Given the description of an element on the screen output the (x, y) to click on. 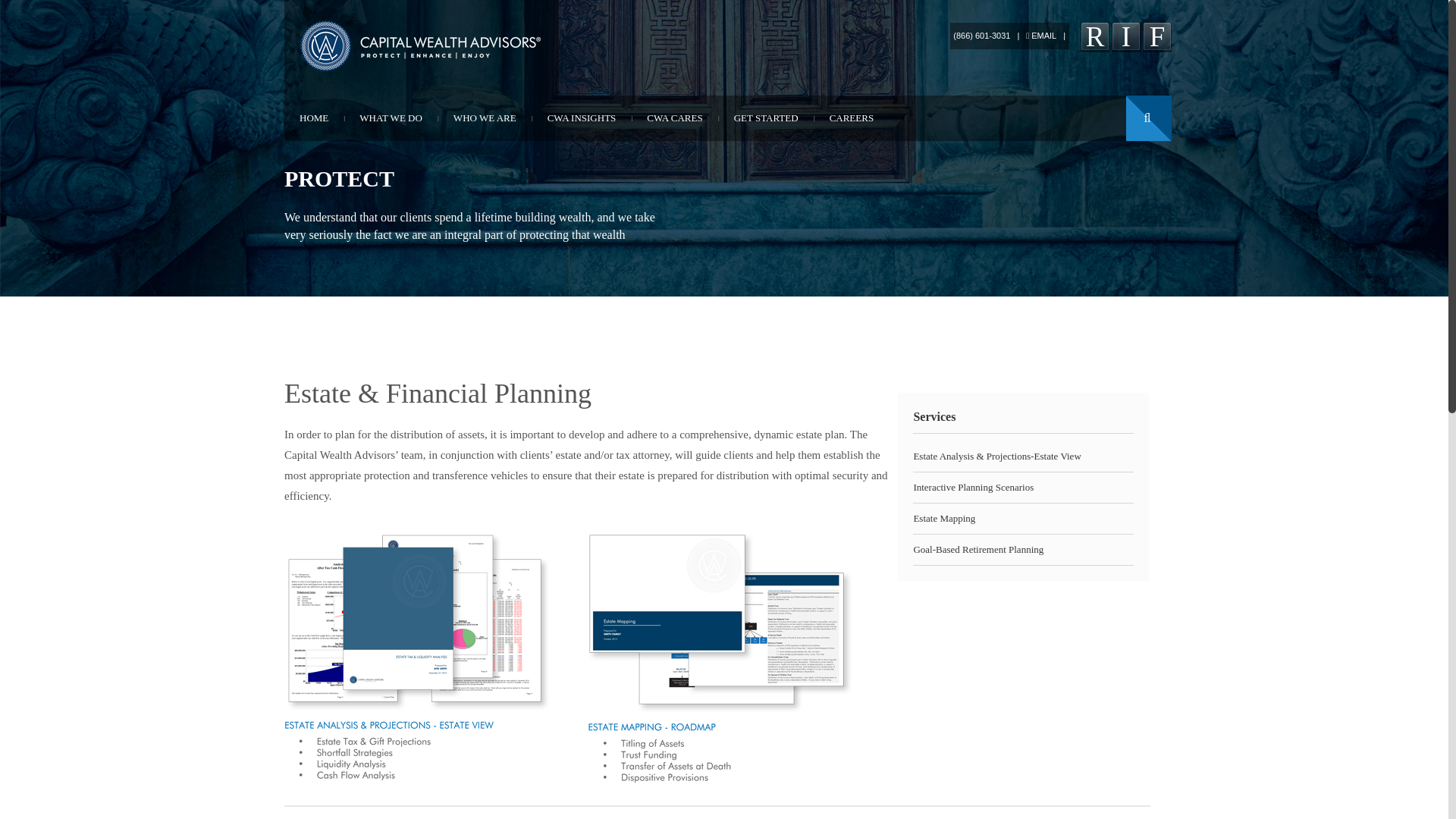
CWA INSIGHTS (581, 117)
WHAT WE DO (390, 117)
CWA CARES (674, 117)
Capital Wealth Advisors (421, 46)
CAREERS (851, 117)
WHO WE ARE (484, 117)
GET STARTED (766, 117)
 EMAIL (1041, 35)
HOME (313, 117)
